Given the description of an element on the screen output the (x, y) to click on. 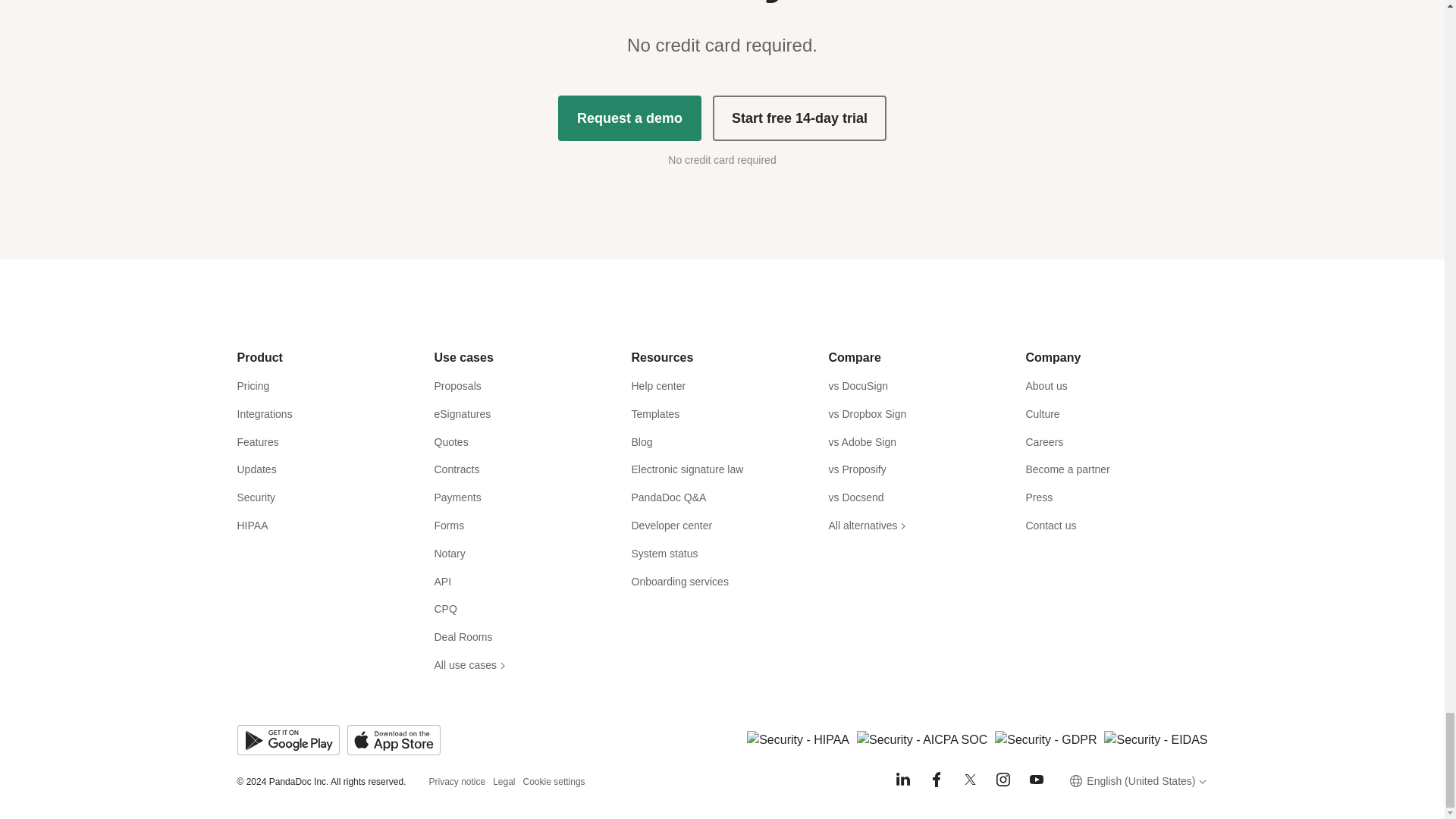
Twitter (969, 779)
LinkedIn (902, 779)
Instagram (1002, 779)
Facebook (935, 779)
Youtube (1036, 779)
